Given the description of an element on the screen output the (x, y) to click on. 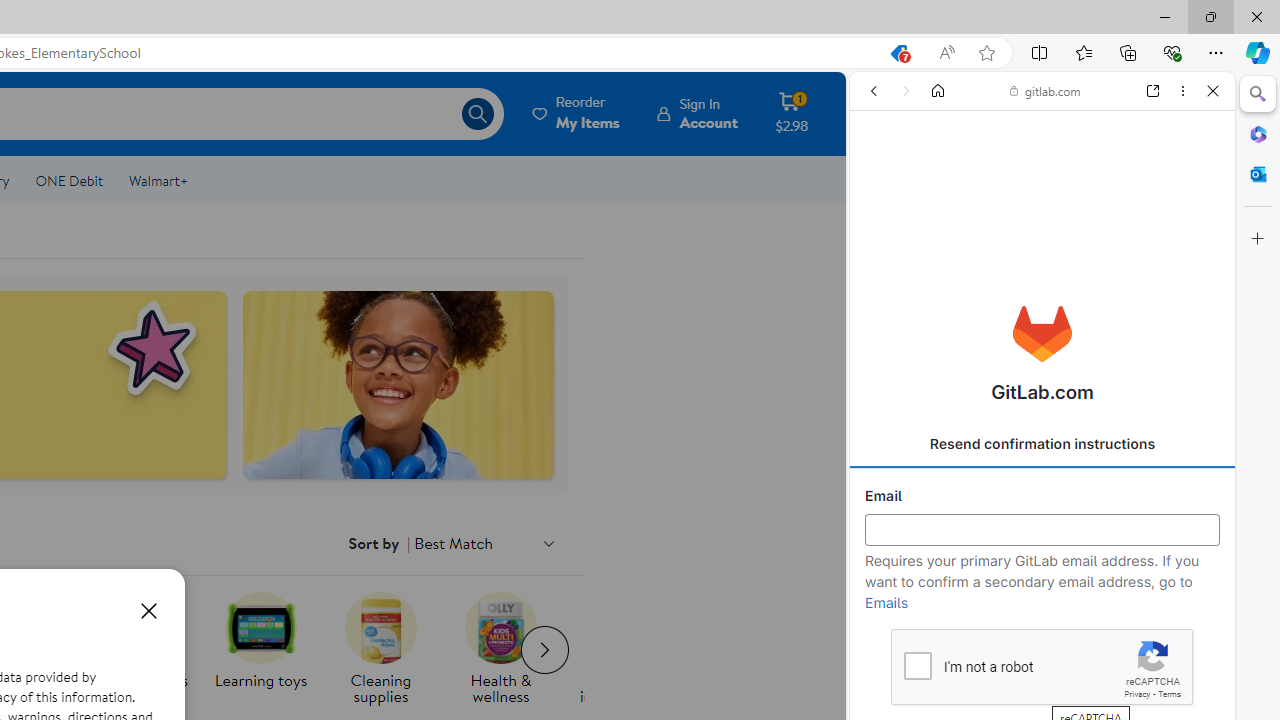
About GitLab (1042, 592)
Preferences (1189, 228)
Confirmation Page (1042, 684)
Search Filter, VIDEOS (1002, 228)
ALL   (881, 228)
SEARCH TOOLS (1090, 228)
Close Search pane (1258, 94)
This site has coupons! Shopping in Microsoft Edge, 7 (898, 53)
